Given the description of an element on the screen output the (x, y) to click on. 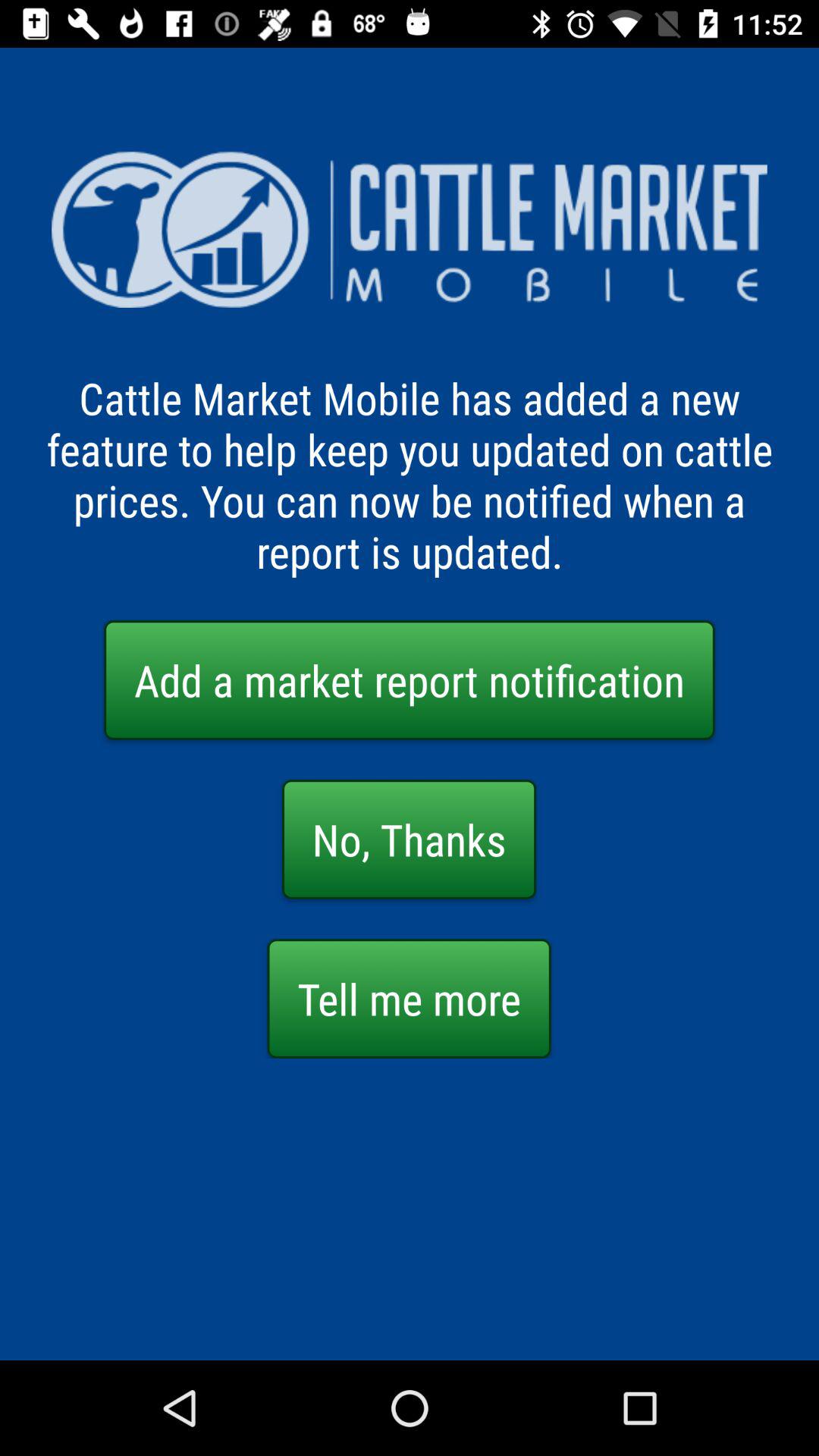
press tell me more button (409, 998)
